Given the description of an element on the screen output the (x, y) to click on. 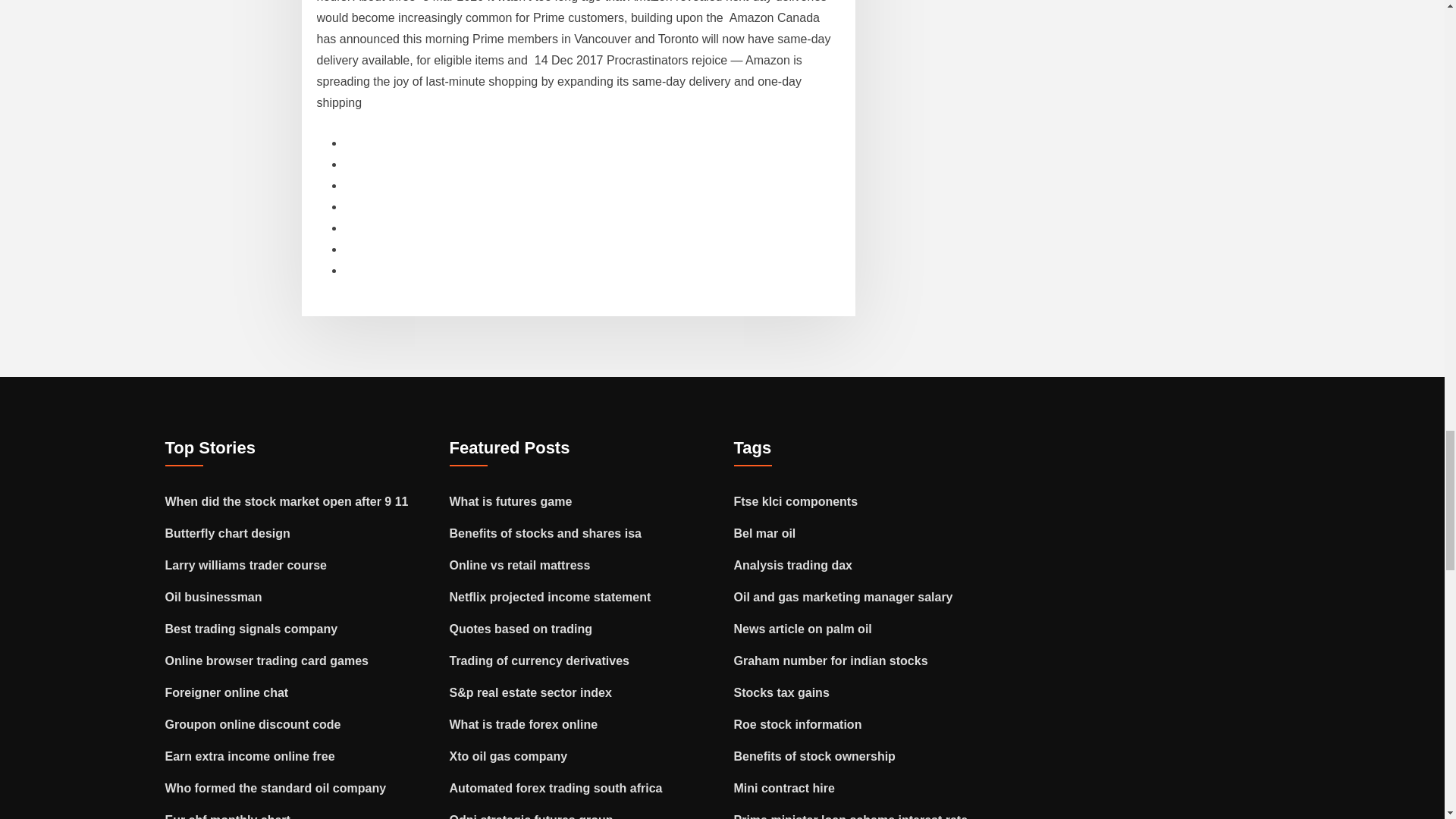
Who formed the standard oil company (276, 788)
Groupon online discount code (252, 724)
Foreigner online chat (226, 692)
When did the stock market open after 9 11 (287, 501)
Eur chf monthly chart (227, 816)
Oil businessman (213, 596)
Larry williams trader course (245, 564)
Best trading signals company (251, 628)
Butterfly chart design (227, 533)
Earn extra income online free (249, 756)
Online browser trading card games (267, 660)
